Given the description of an element on the screen output the (x, y) to click on. 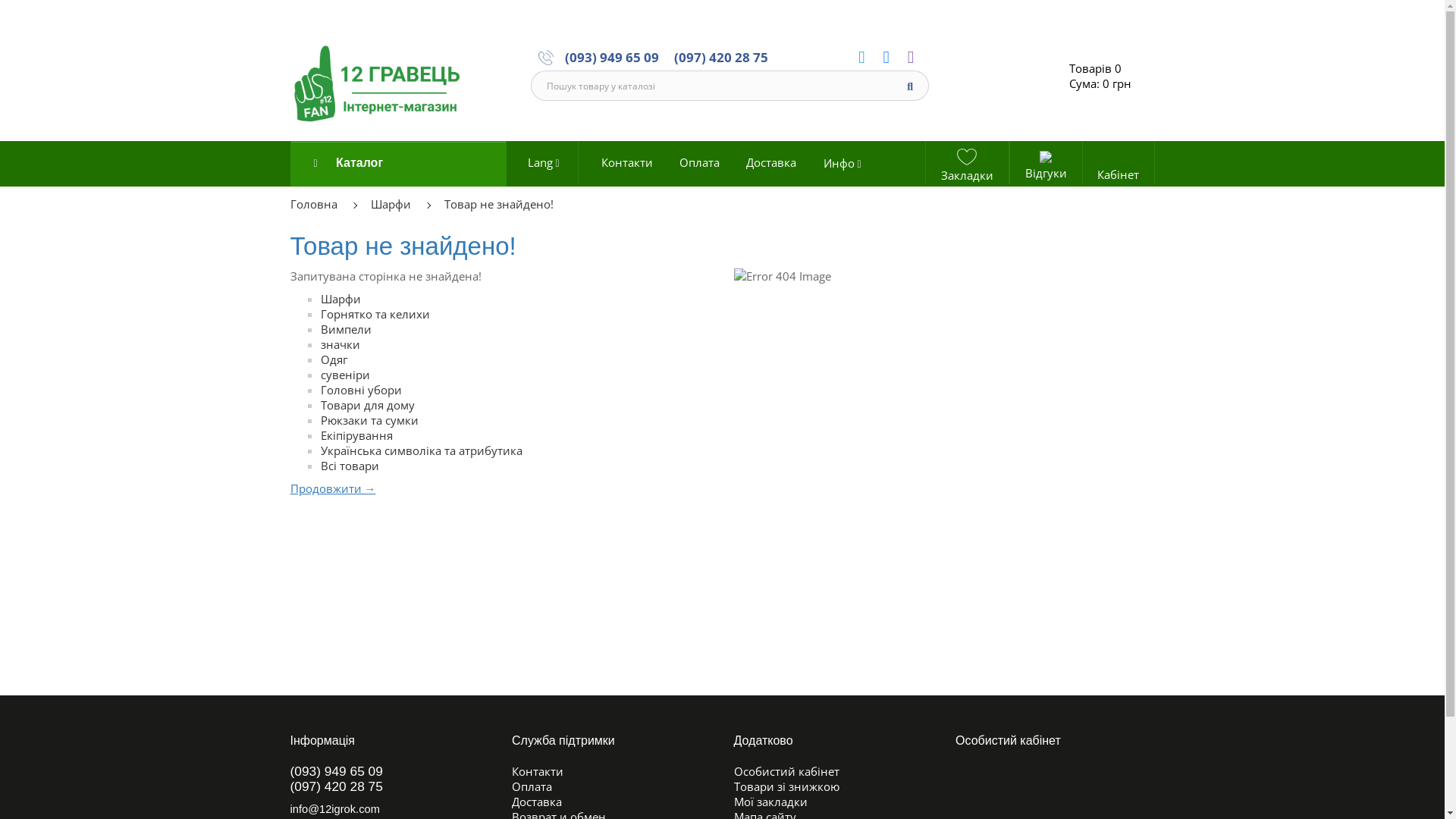
Lang Element type: text (547, 164)
(097) 420 28 75 Element type: text (721, 56)
(093) 949 65 09 Element type: text (611, 56)
